Given the description of an element on the screen output the (x, y) to click on. 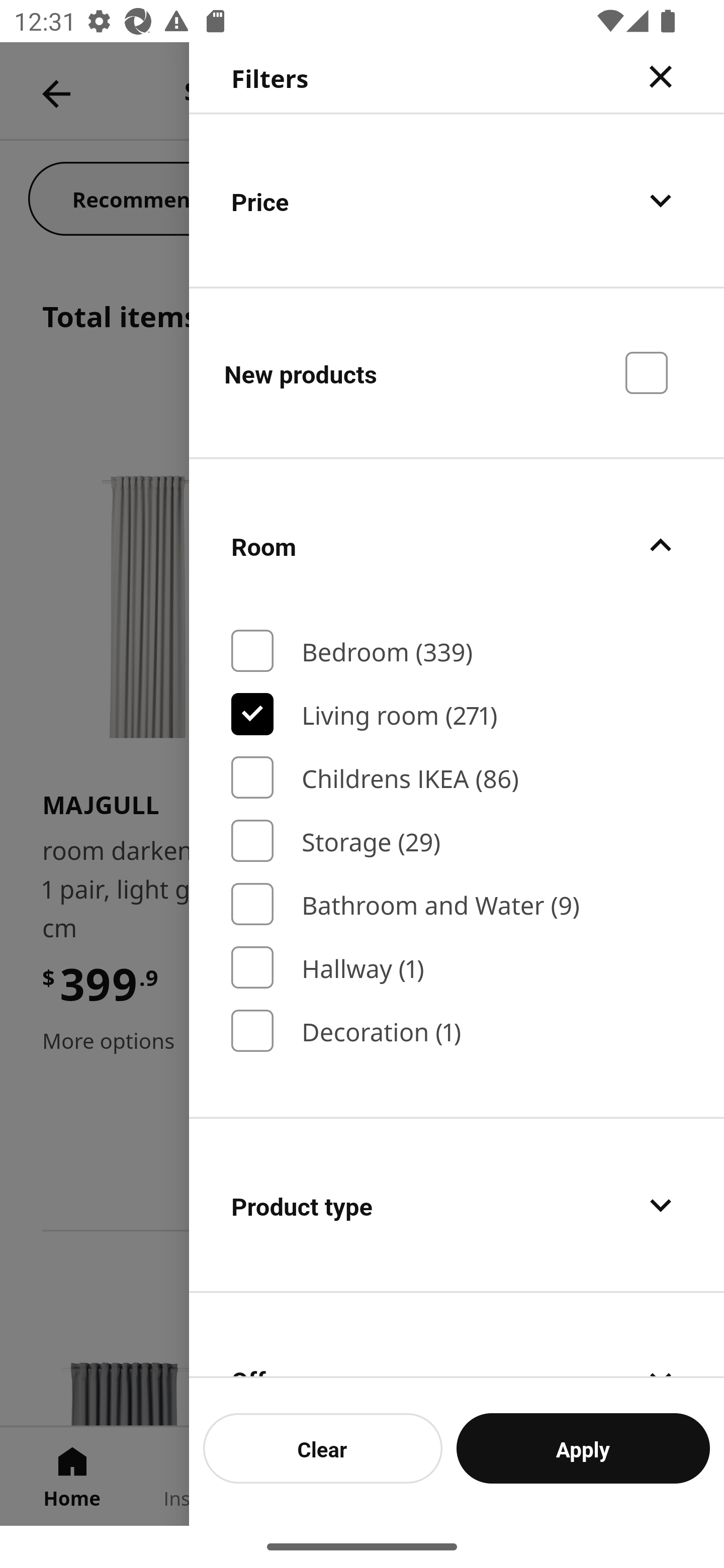
Price (456, 200)
New products (456, 371)
Room (456, 545)
Bedroom (339) (456, 651)
Living room (271) (456, 714)
Childrens IKEA (86) (456, 776)
Storage (29) (456, 841)
Bathroom and Water (9) (456, 903)
Hallway (1) (456, 967)
Decoration (1) (456, 1030)
Product type (456, 1204)
Clear (322, 1447)
Apply (583, 1447)
